Given the description of an element on the screen output the (x, y) to click on. 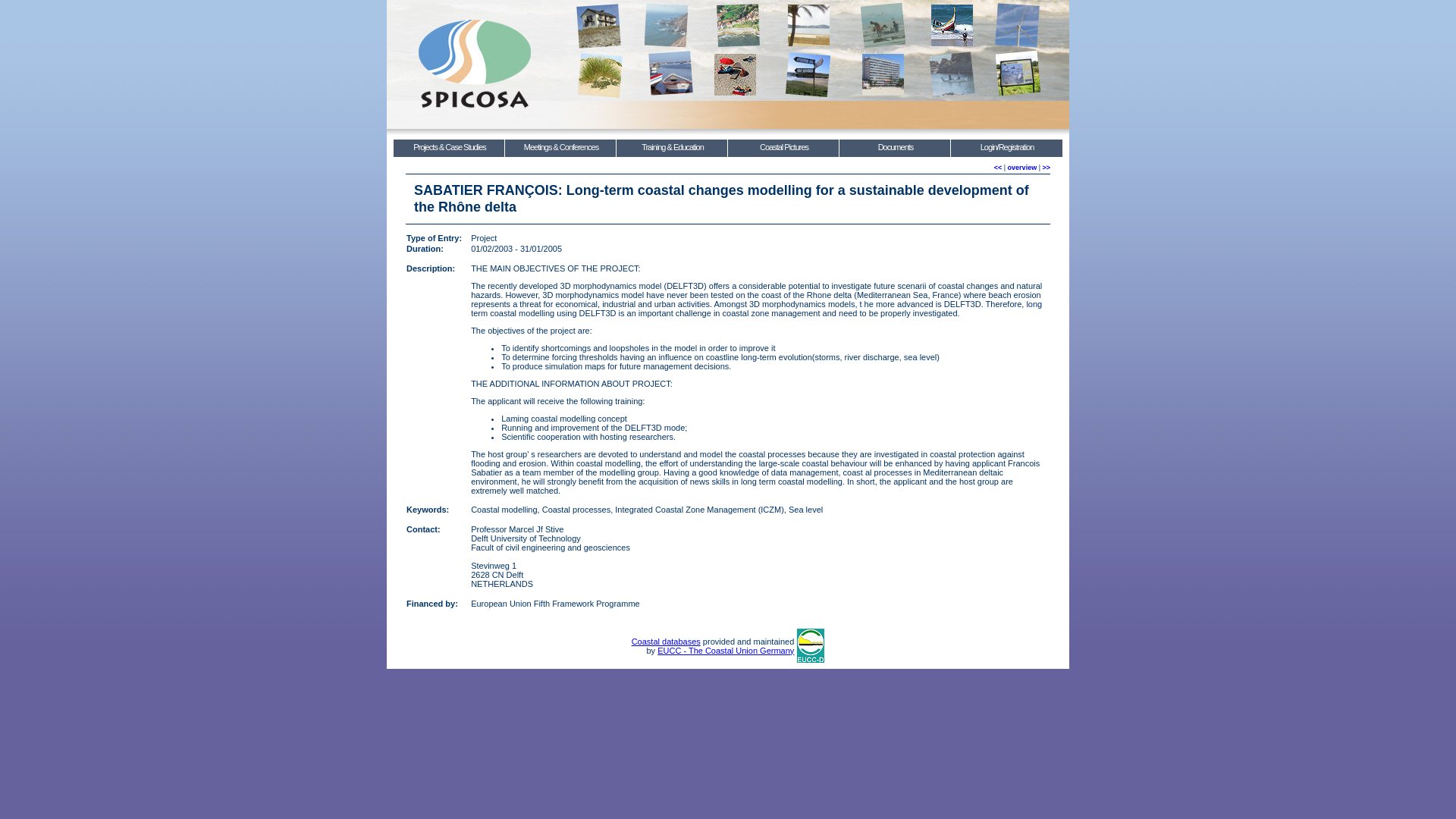
Coastal Pictures (783, 148)
Coastal databases (665, 641)
Documents (895, 148)
EUCC - The Coastal Union Germany (725, 650)
overview (1021, 167)
